Given the description of an element on the screen output the (x, y) to click on. 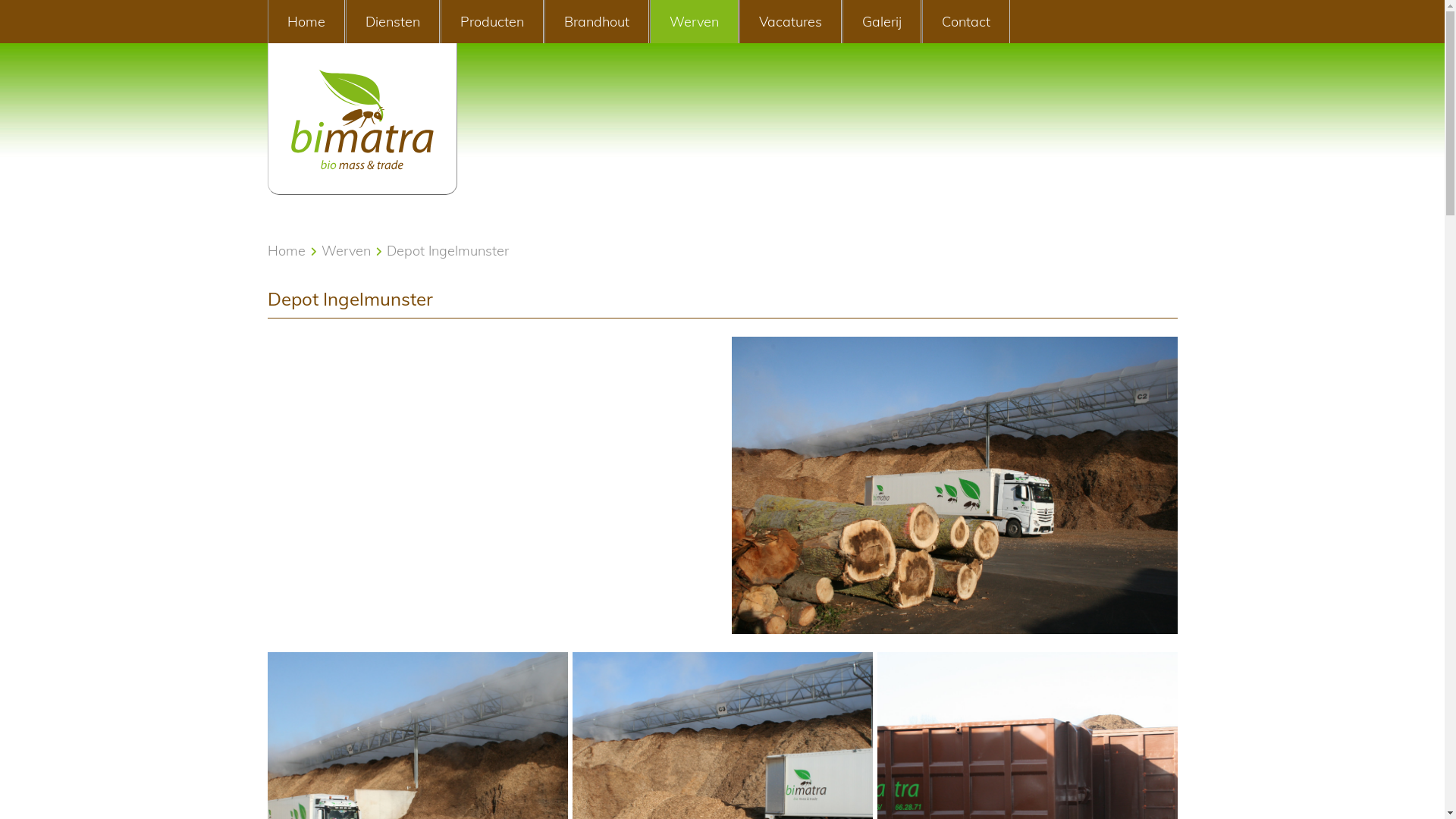
Diensten Element type: text (392, 21)
Werven Element type: text (693, 21)
Depot Ingelmunster Element type: text (447, 250)
Werven Element type: text (345, 250)
Galerij Element type: text (880, 21)
Vacatures Element type: text (789, 21)
Contact Element type: text (966, 21)
Brandhout Element type: text (596, 21)
Producten Element type: text (490, 21)
Home Element type: text (305, 21)
Home Element type: text (285, 250)
